Given the description of an element on the screen output the (x, y) to click on. 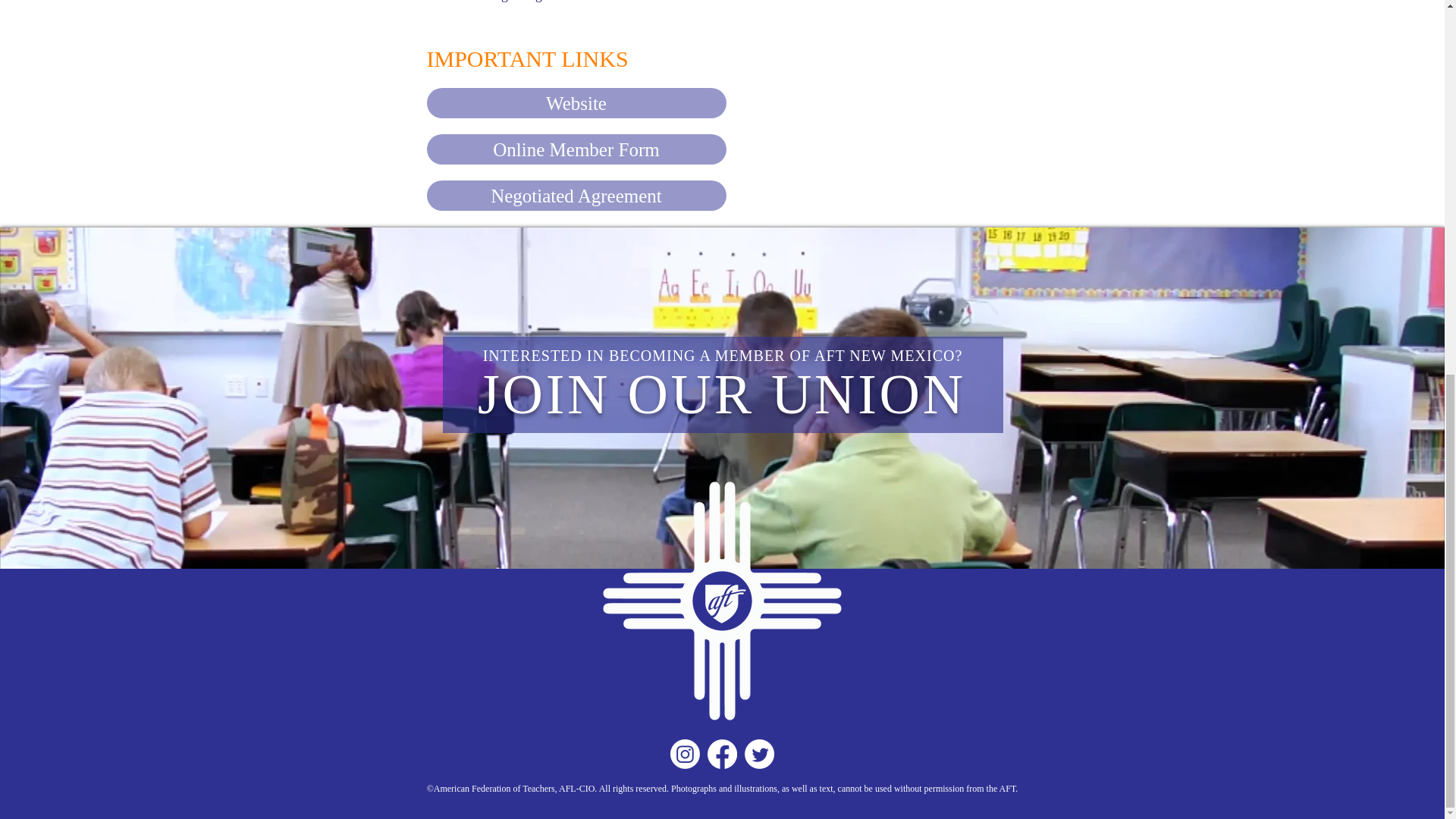
JOIN OUR UNION (721, 393)
Online Member Form (575, 149)
Website (575, 102)
Negotiated Agreement (575, 195)
